Given the description of an element on the screen output the (x, y) to click on. 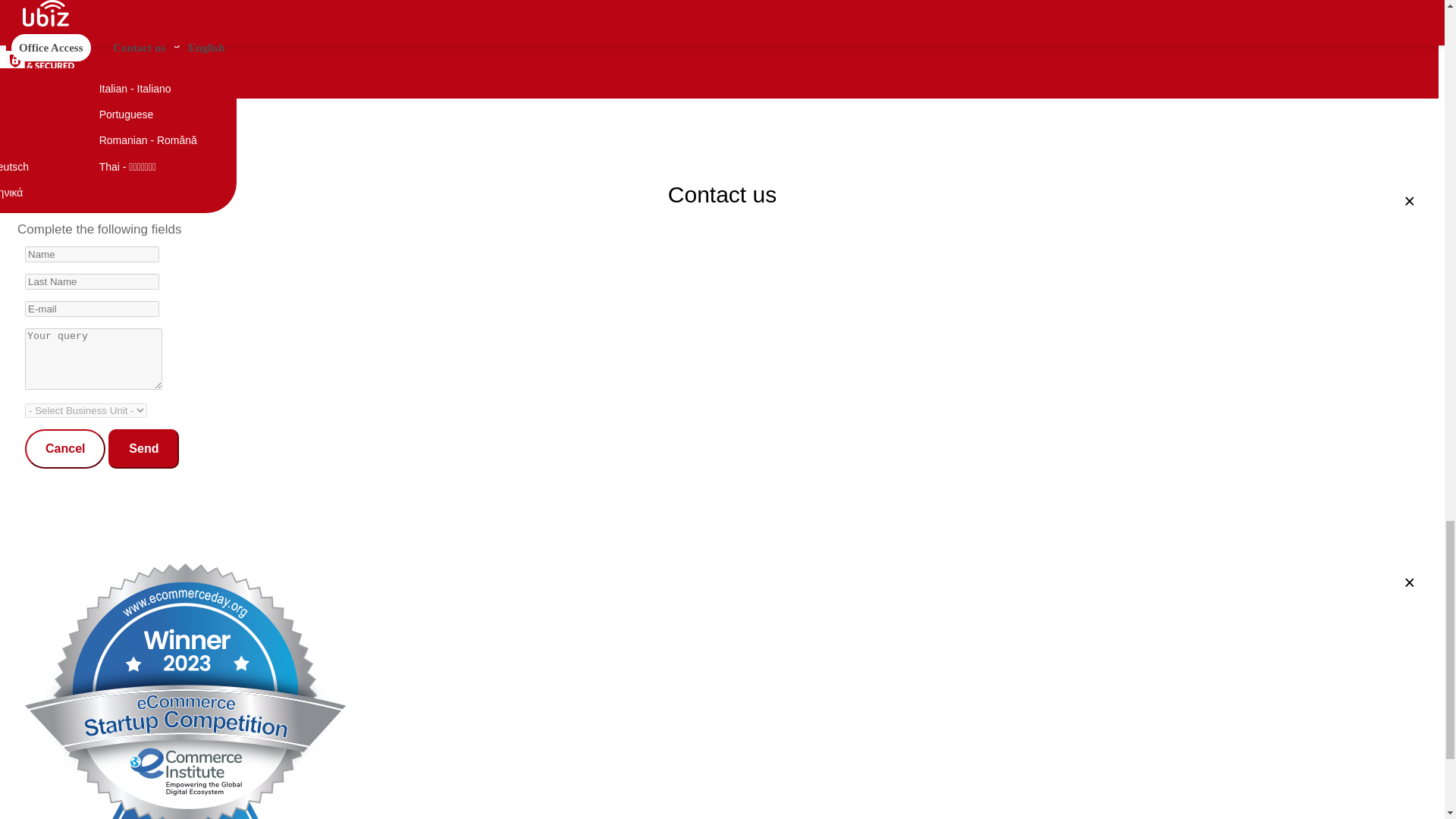
Winner 2023 - eCommerce Startup Competition (24, 13)
